Given the description of an element on the screen output the (x, y) to click on. 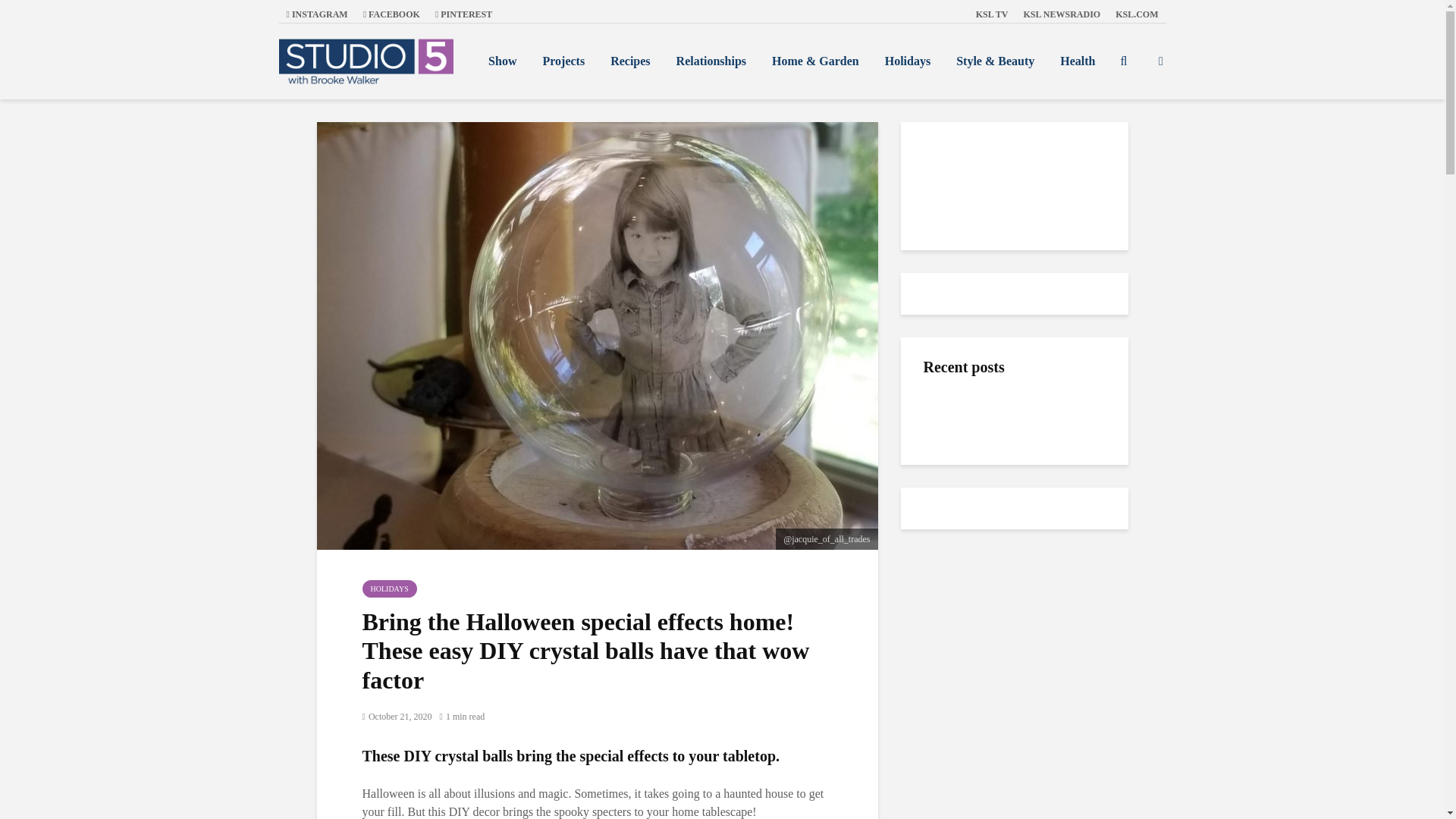
Projects (563, 60)
INSTAGRAM (317, 14)
KSL.COM (1137, 14)
Relationships (711, 60)
HOLIDAYS (389, 588)
Health (1077, 60)
KSL NEWSRADIO (1061, 14)
KSL TV (992, 14)
Recipes (629, 60)
PINTEREST (463, 14)
FACEBOOK (391, 14)
Show (502, 60)
Holidays (907, 60)
